Given the description of an element on the screen output the (x, y) to click on. 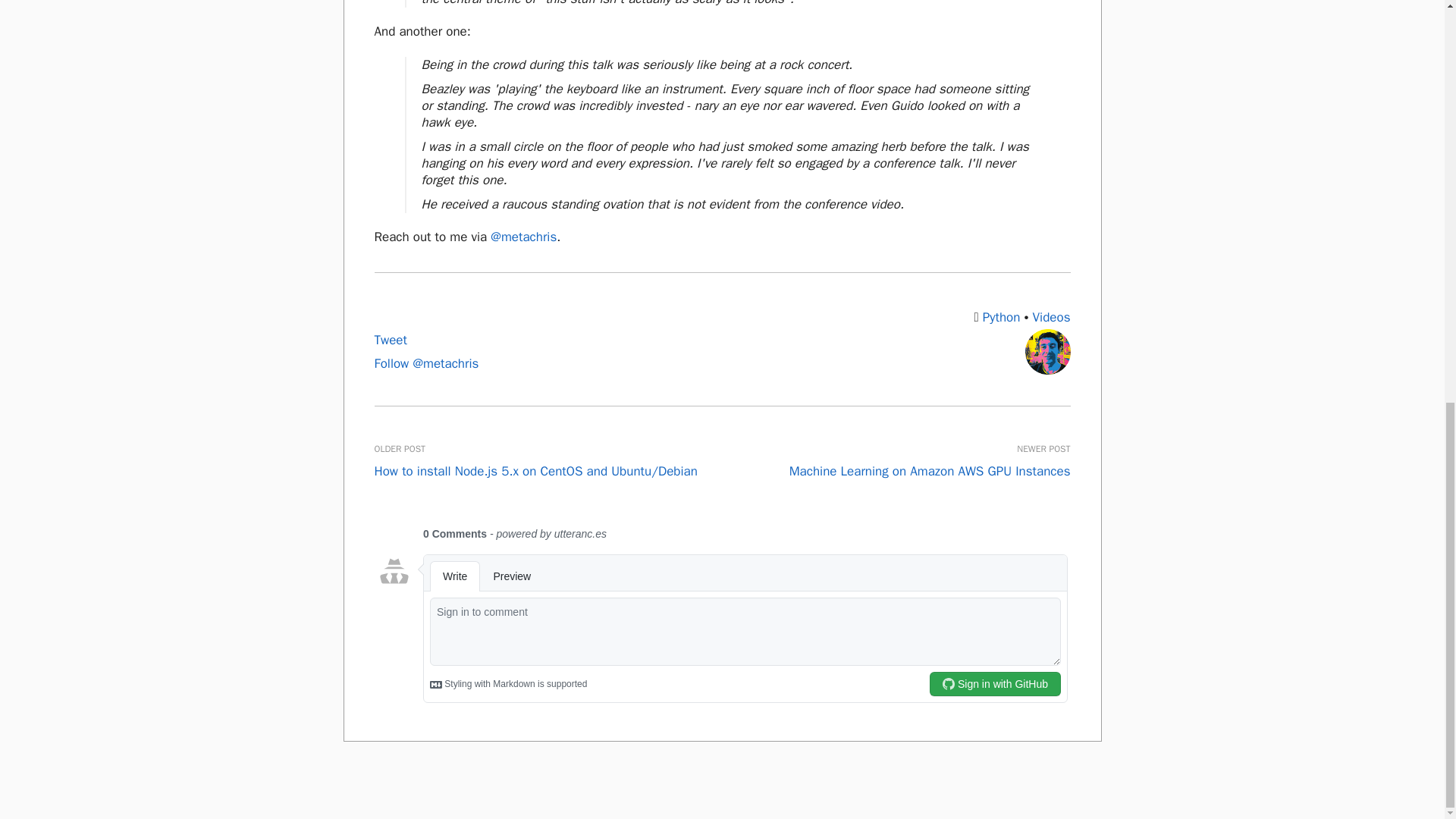
Python (1001, 317)
Machine Learning on Amazon AWS GPU Instances (929, 471)
Tweet (390, 340)
Videos (1051, 317)
